Given the description of an element on the screen output the (x, y) to click on. 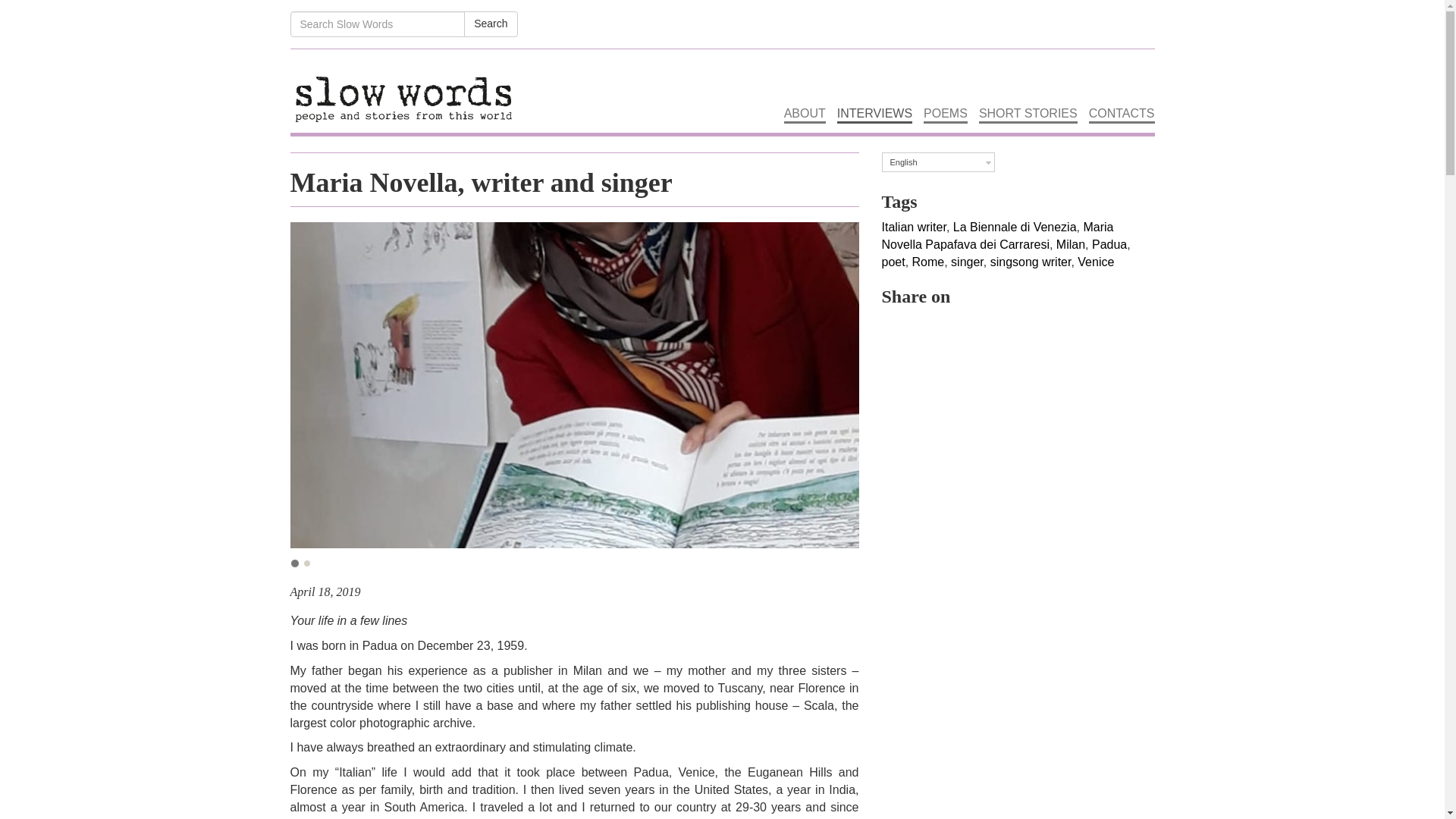
English (937, 161)
La Biennale di Venezia (1015, 226)
ABOUT (804, 86)
Rome (928, 261)
Padua (1109, 244)
CONTACTS (1121, 86)
INTERVIEWS (874, 86)
POEMS (945, 86)
Maria Novella Papafava dei Carraresi (996, 235)
Milan (1070, 244)
Italian writer (912, 226)
poet (892, 261)
Slow Words (402, 87)
Search (490, 23)
SHORT STORIES (1027, 86)
